Given the description of an element on the screen output the (x, y) to click on. 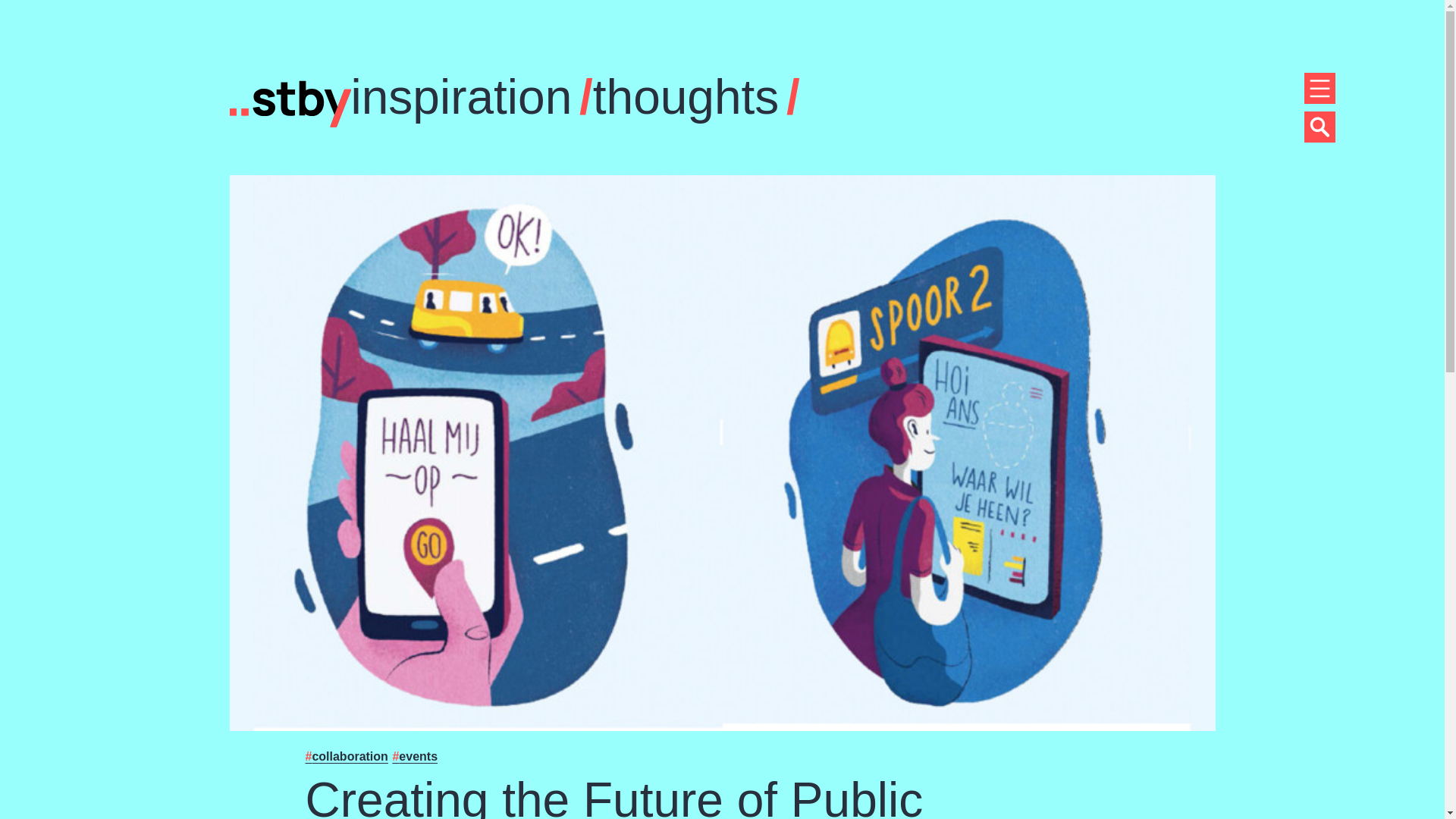
Menu (1319, 88)
thoughts (685, 96)
Menu (1319, 126)
collaboration (345, 756)
inspiration (461, 96)
events (414, 756)
